Given the description of an element on the screen output the (x, y) to click on. 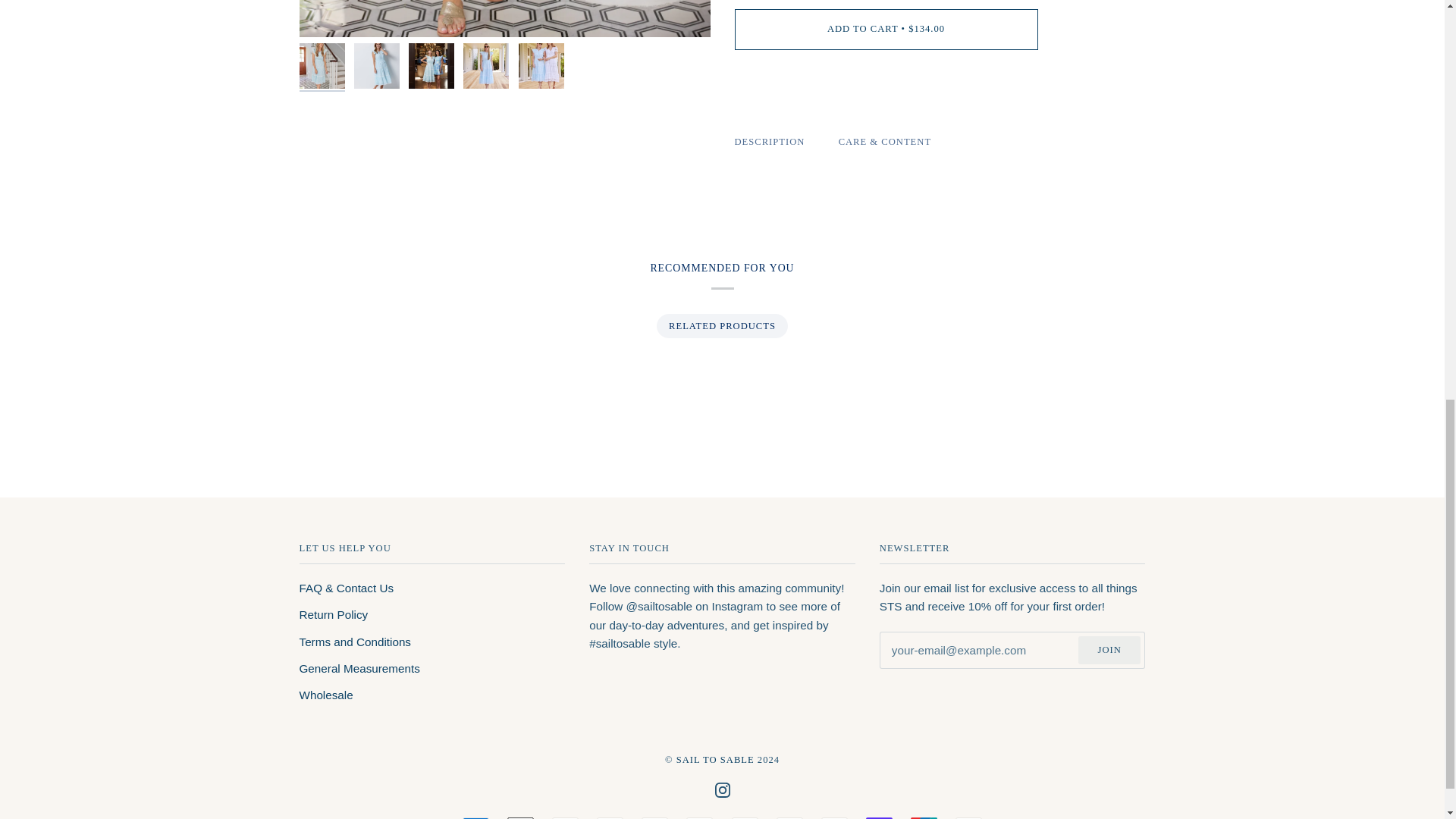
SHOP PAY (879, 818)
APPLE PAY (520, 818)
META PAY (655, 818)
RELATED PRODUCTS (721, 325)
UNION PAY (924, 818)
MAESTRO (789, 818)
Instagram (721, 789)
DINERS CLUB (564, 818)
GOOGLE PAY (699, 818)
AMERICAN EXPRESS (476, 818)
